Given the description of an element on the screen output the (x, y) to click on. 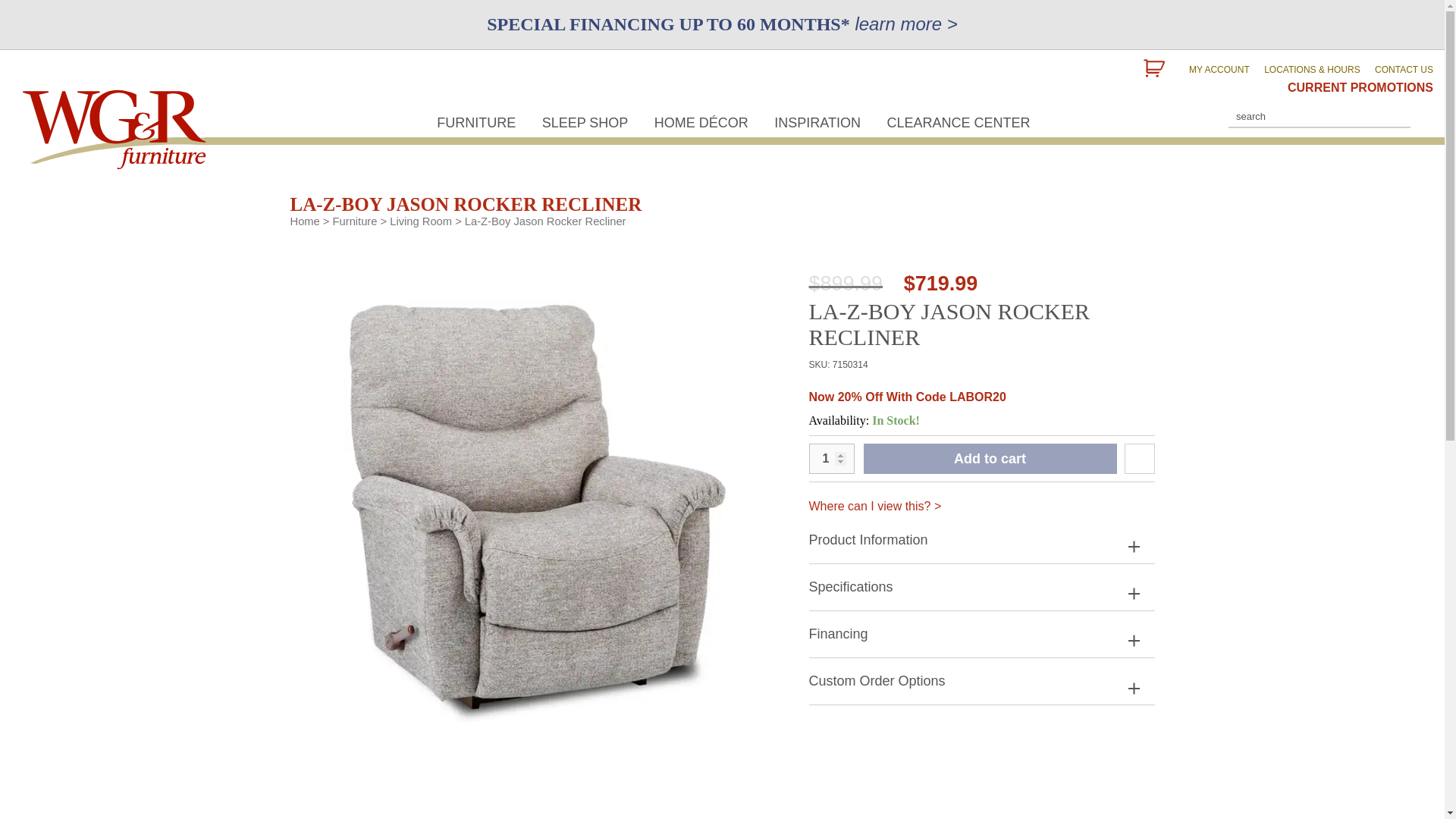
MY ACCOUNT (1213, 69)
View your shopping cart (1160, 69)
1 (830, 458)
FURNITURE (476, 124)
learn more (898, 23)
CONTACT US (1397, 69)
CURRENT PROMOTIONS (1354, 87)
